Given the description of an element on the screen output the (x, y) to click on. 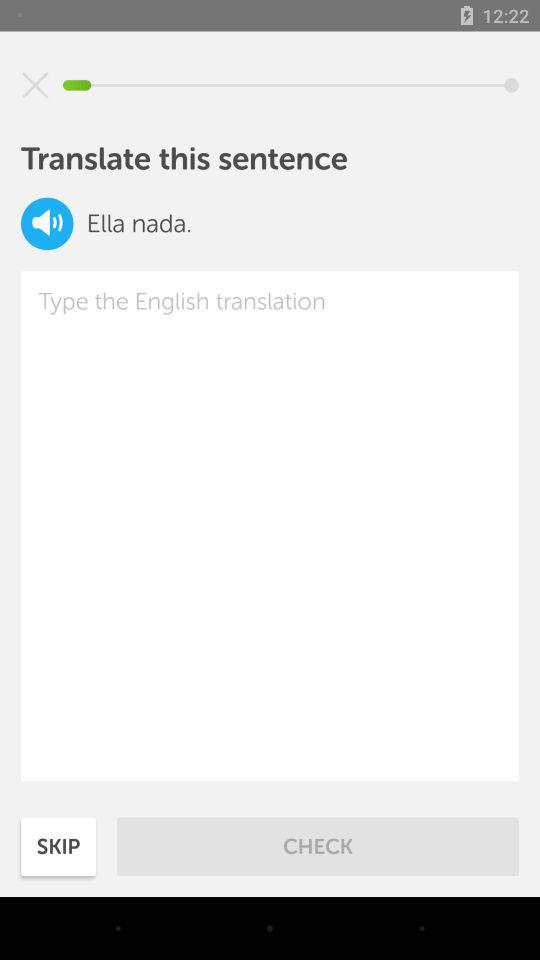
launch the icon below translate this sentence item (47, 223)
